Given the description of an element on the screen output the (x, y) to click on. 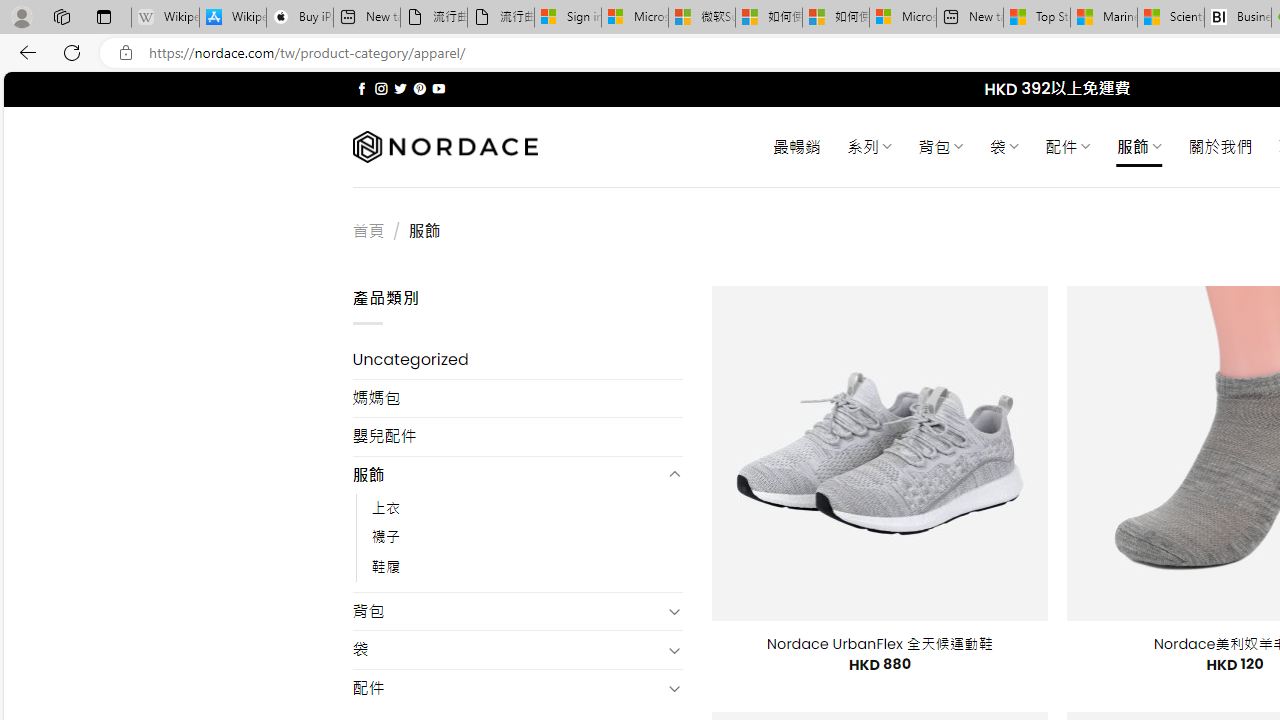
Follow on Facebook (361, 88)
